Given the description of an element on the screen output the (x, y) to click on. 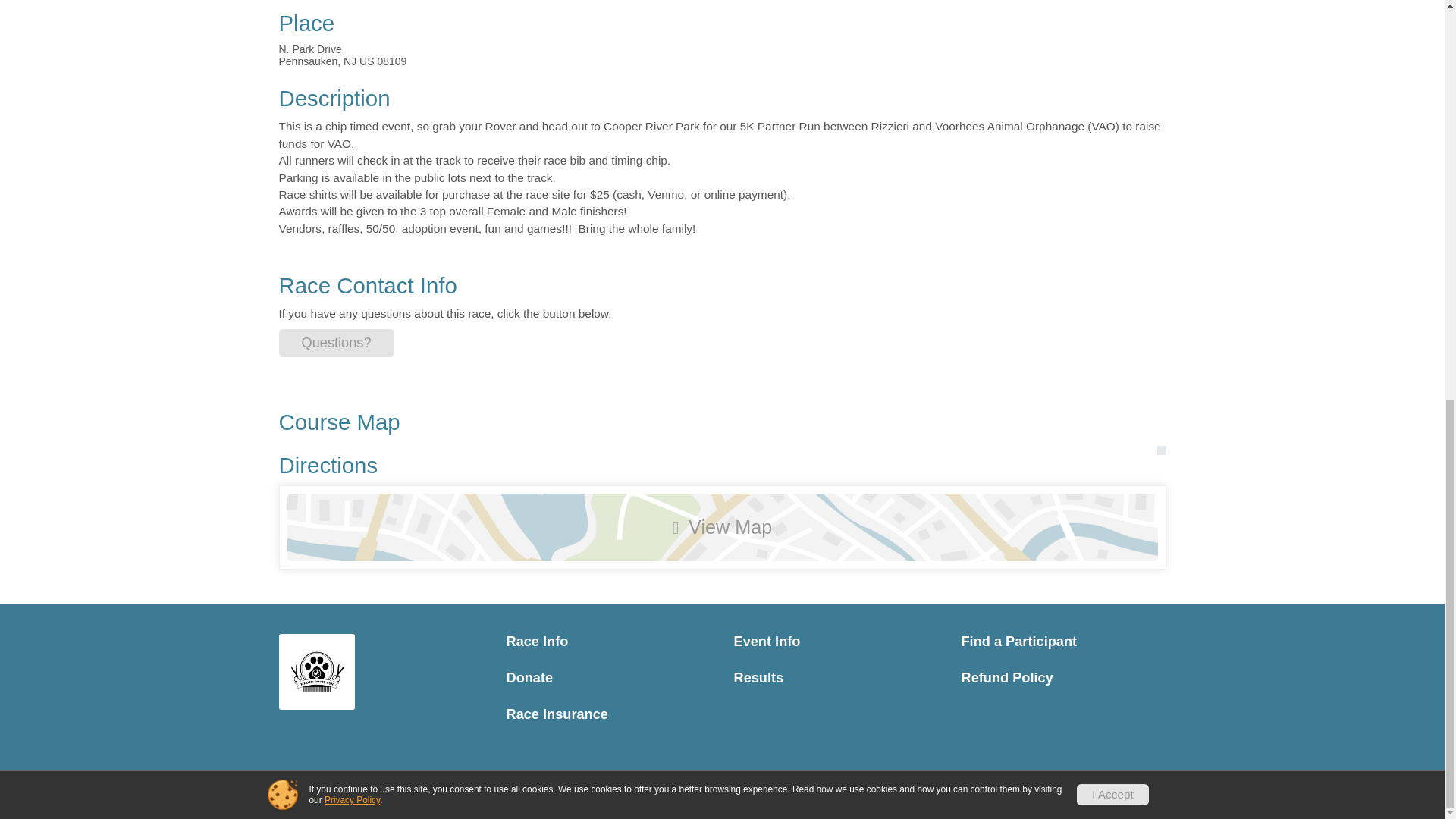
View Map (721, 527)
Race Info (608, 641)
Questions? (336, 343)
